Given the description of an element on the screen output the (x, y) to click on. 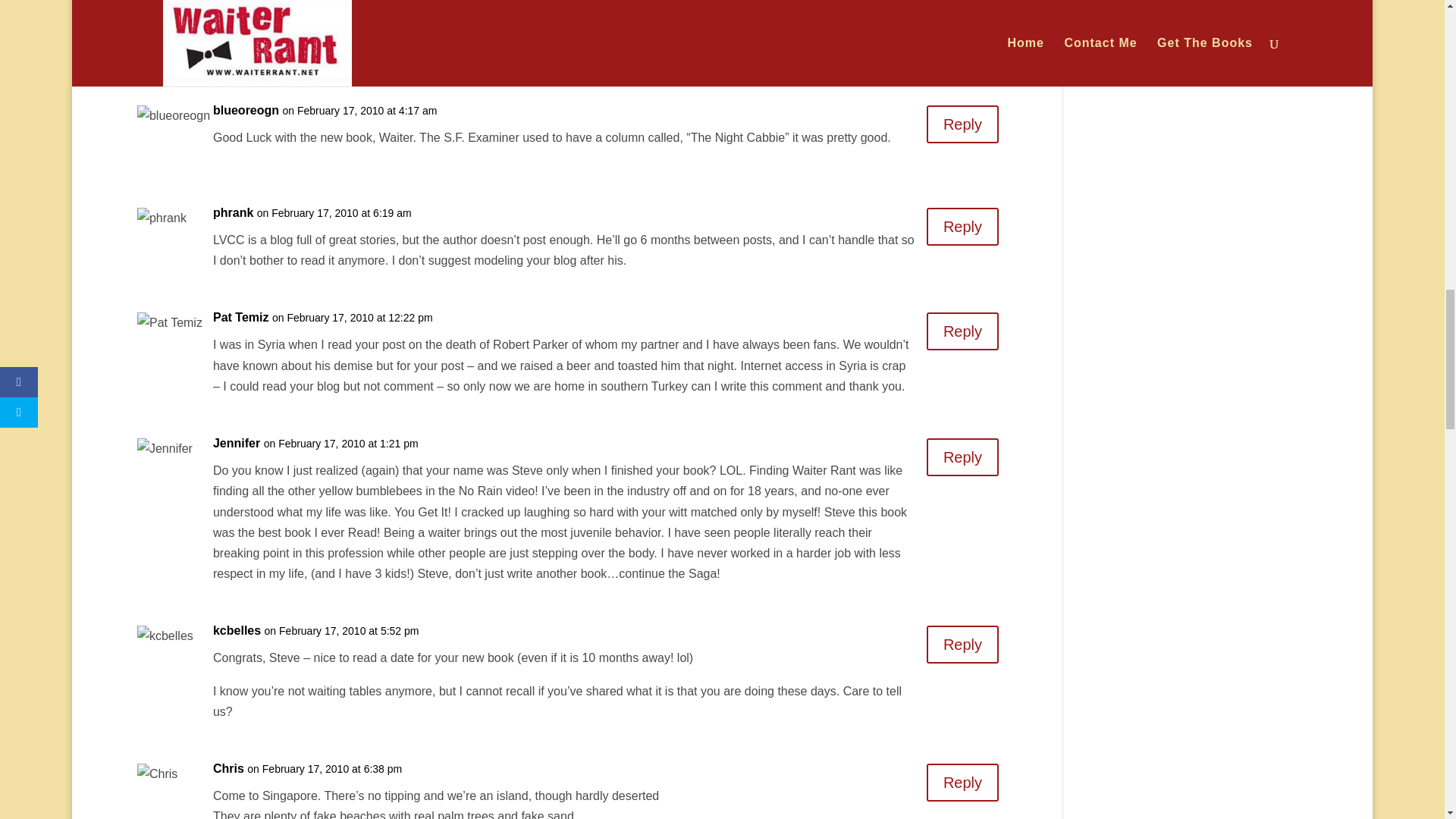
Reply (962, 331)
Reply (962, 782)
kcbelles (236, 629)
Reply (962, 456)
Reply (962, 18)
Reply (962, 226)
Reply (962, 644)
Reply (962, 124)
phrank (232, 212)
